Given the description of an element on the screen output the (x, y) to click on. 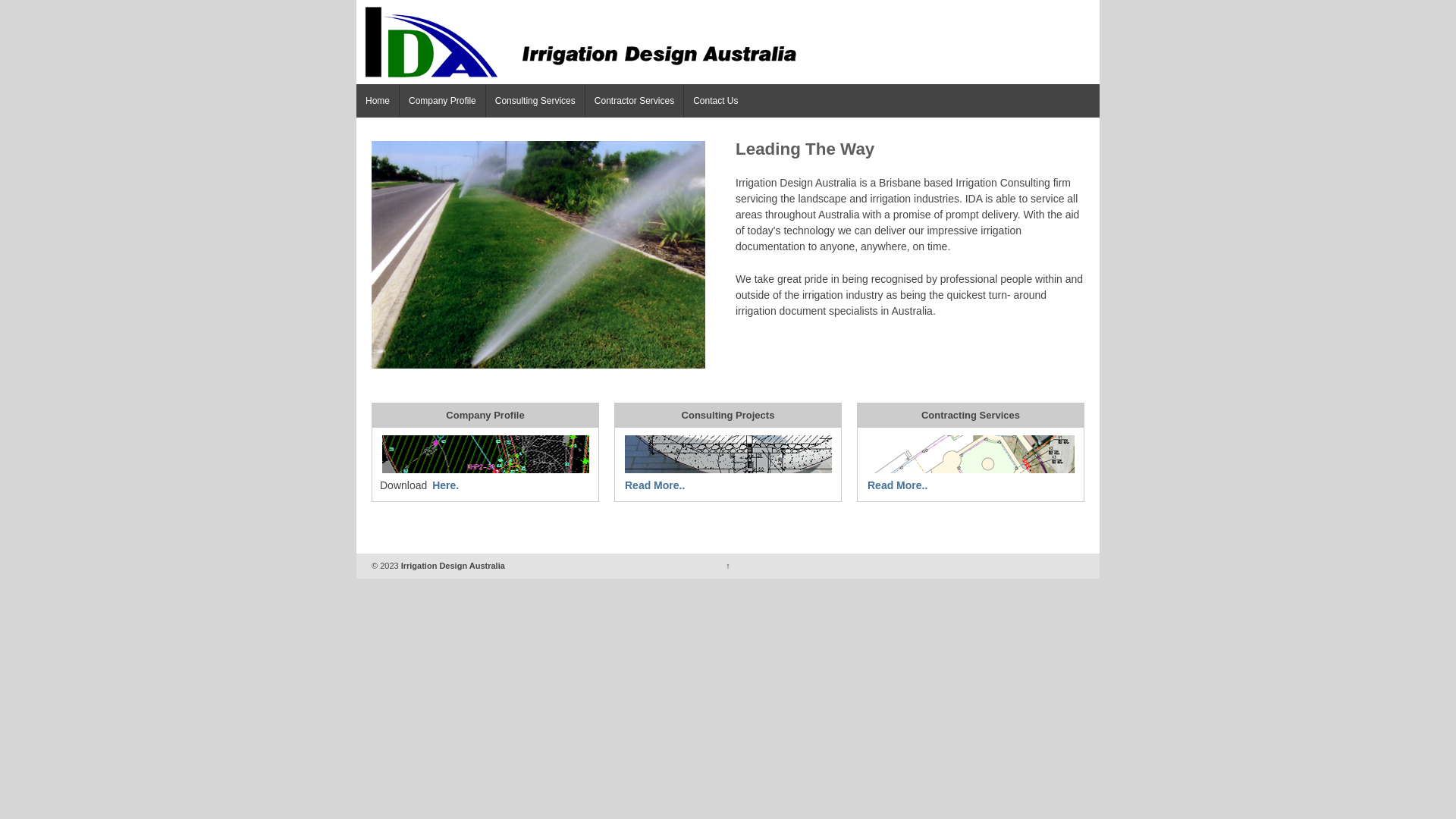
Contact Us Element type: text (714, 100)
Irrigation Design Australia Element type: text (451, 564)
Read More.. Element type: text (897, 484)
Here. Element type: text (445, 484)
Consulting Services Element type: text (534, 100)
Company Profile Element type: text (441, 100)
Read More.. Element type: text (654, 484)
Contractor Services Element type: text (633, 100)
Home Element type: text (377, 100)
